Given the description of an element on the screen output the (x, y) to click on. 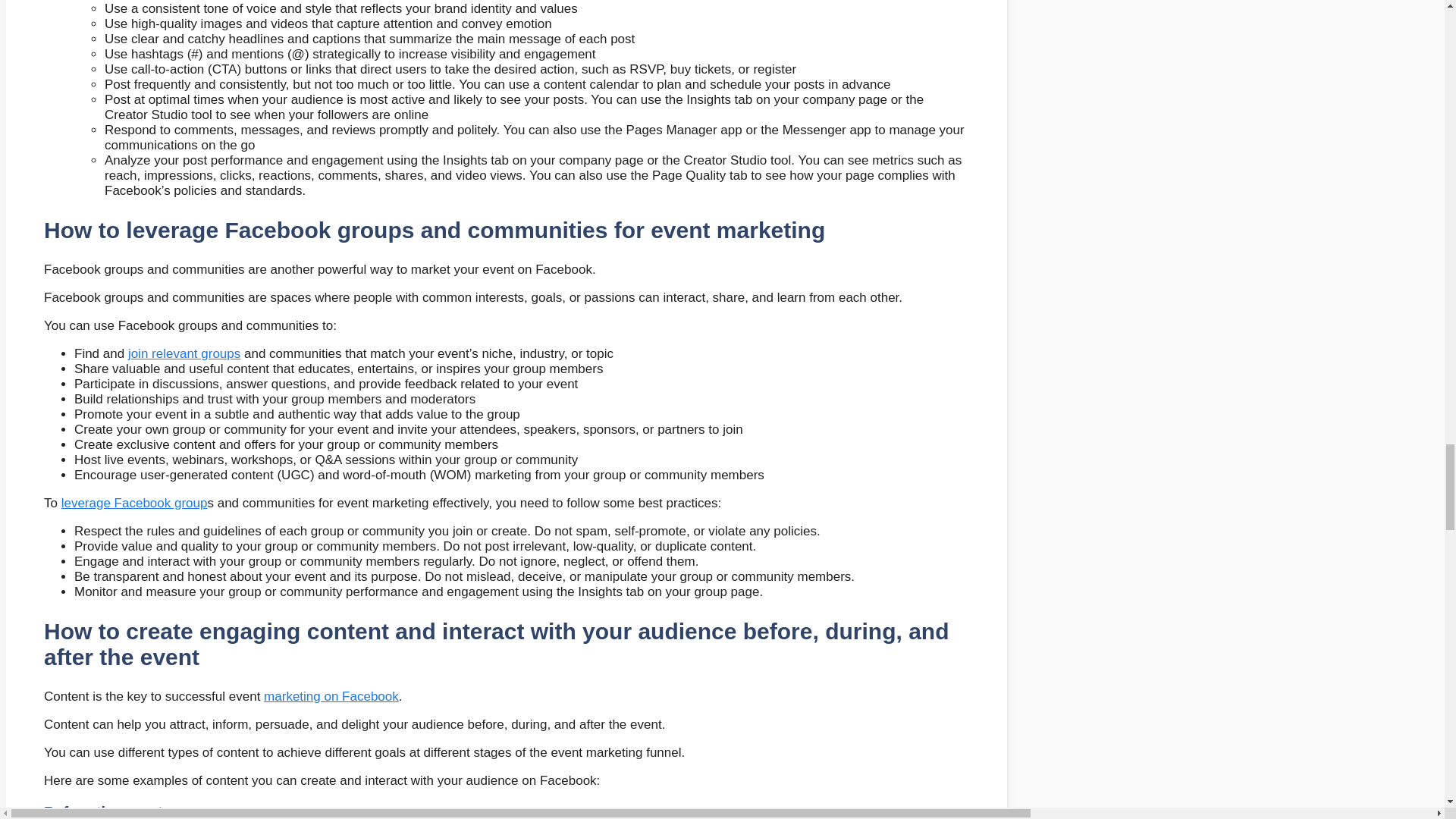
join relevant groups (184, 353)
leverage Facebook group (134, 503)
marketing on Facebook (330, 696)
